Given the description of an element on the screen output the (x, y) to click on. 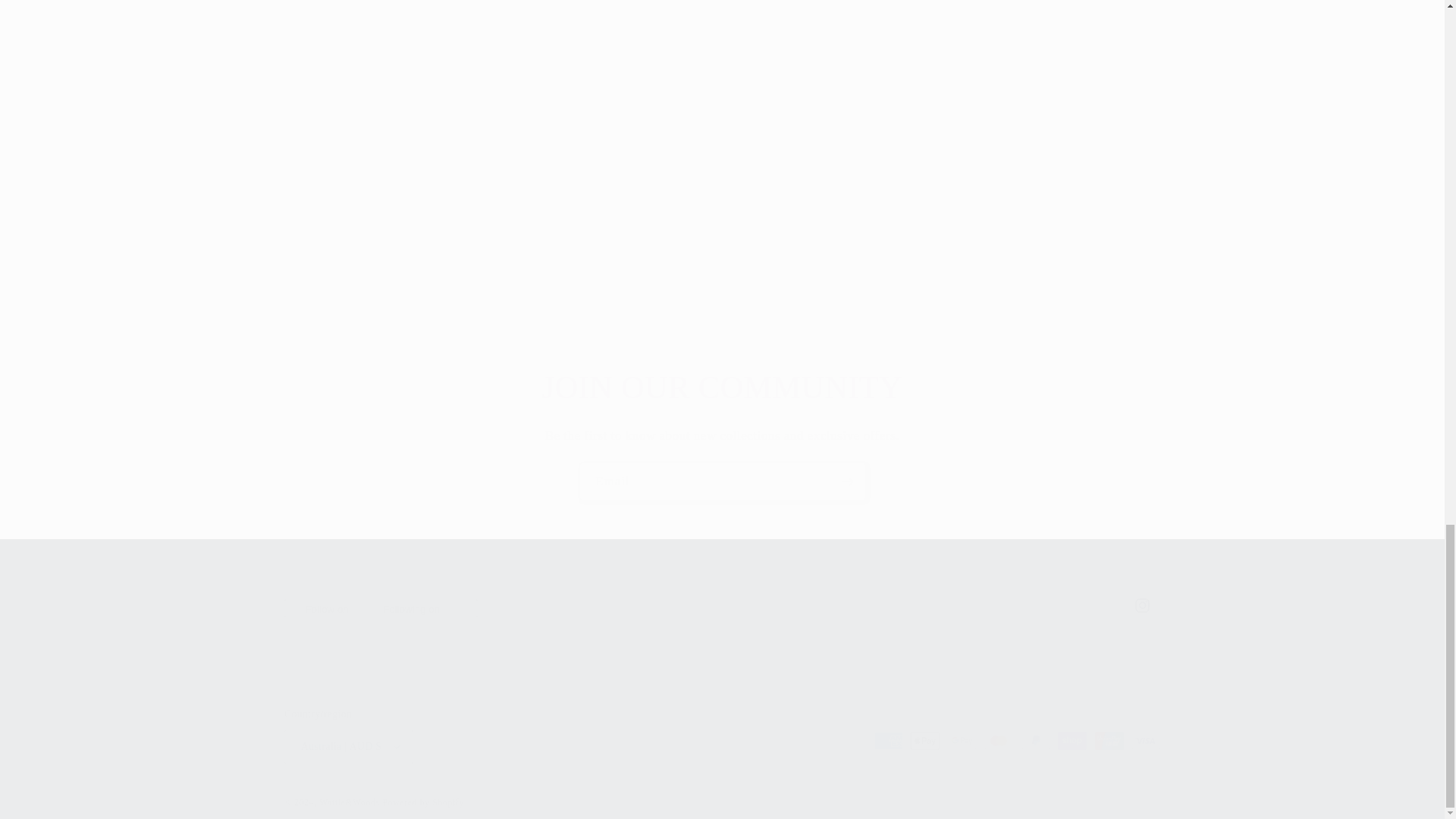
Instagram (721, 605)
Email (722, 480)
JOIN OUR COMMUNITY (722, 387)
